Given the description of an element on the screen output the (x, y) to click on. 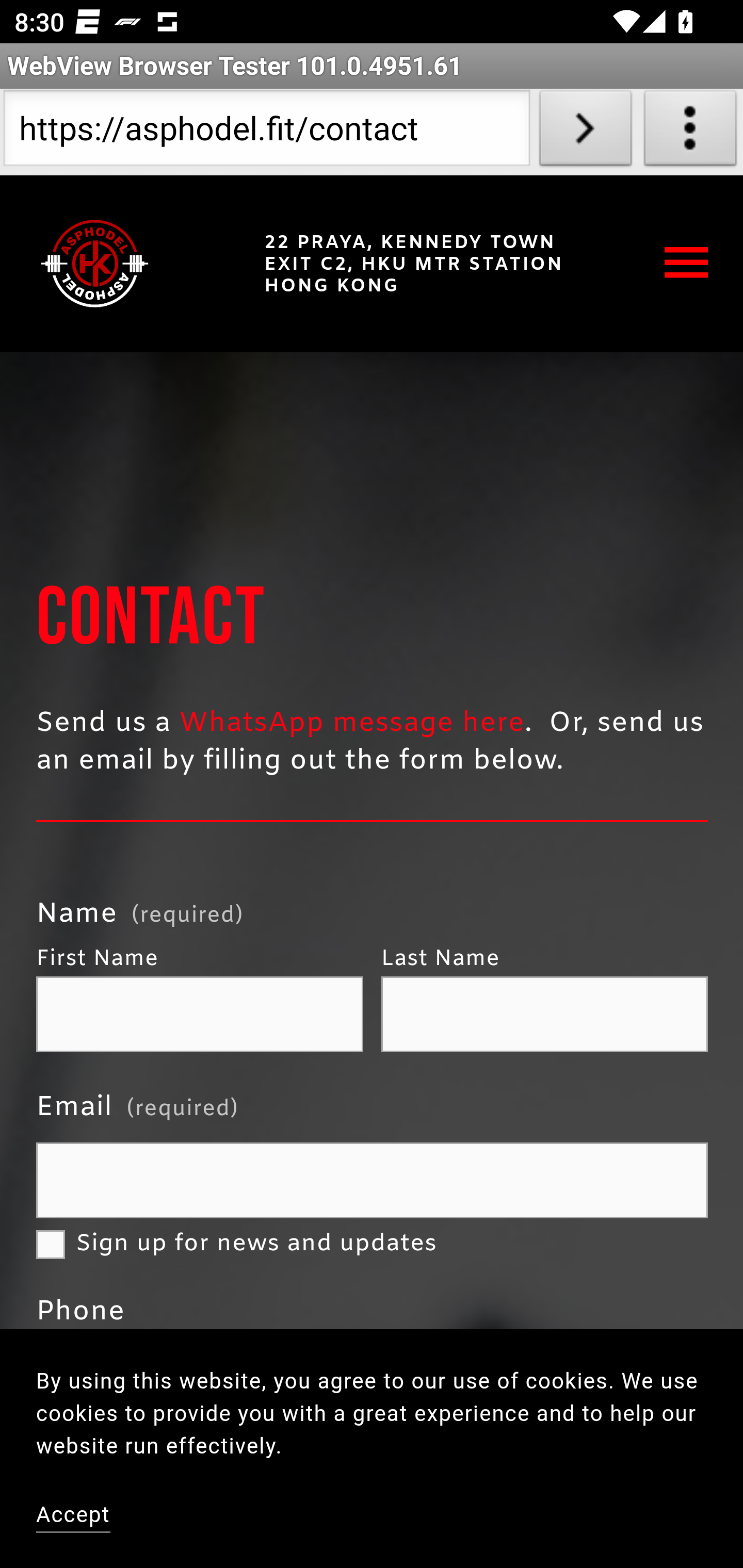
https://asphodel.fit/contact (266, 132)
Load URL (585, 132)
About WebView (690, 132)
Asphodel Fitness (95, 263)
Open navigation menu (686, 262)
WhatsApp message here (351, 723)
Sign up for news and updates (50, 1244)
Accept (74, 1516)
